Given the description of an element on the screen output the (x, y) to click on. 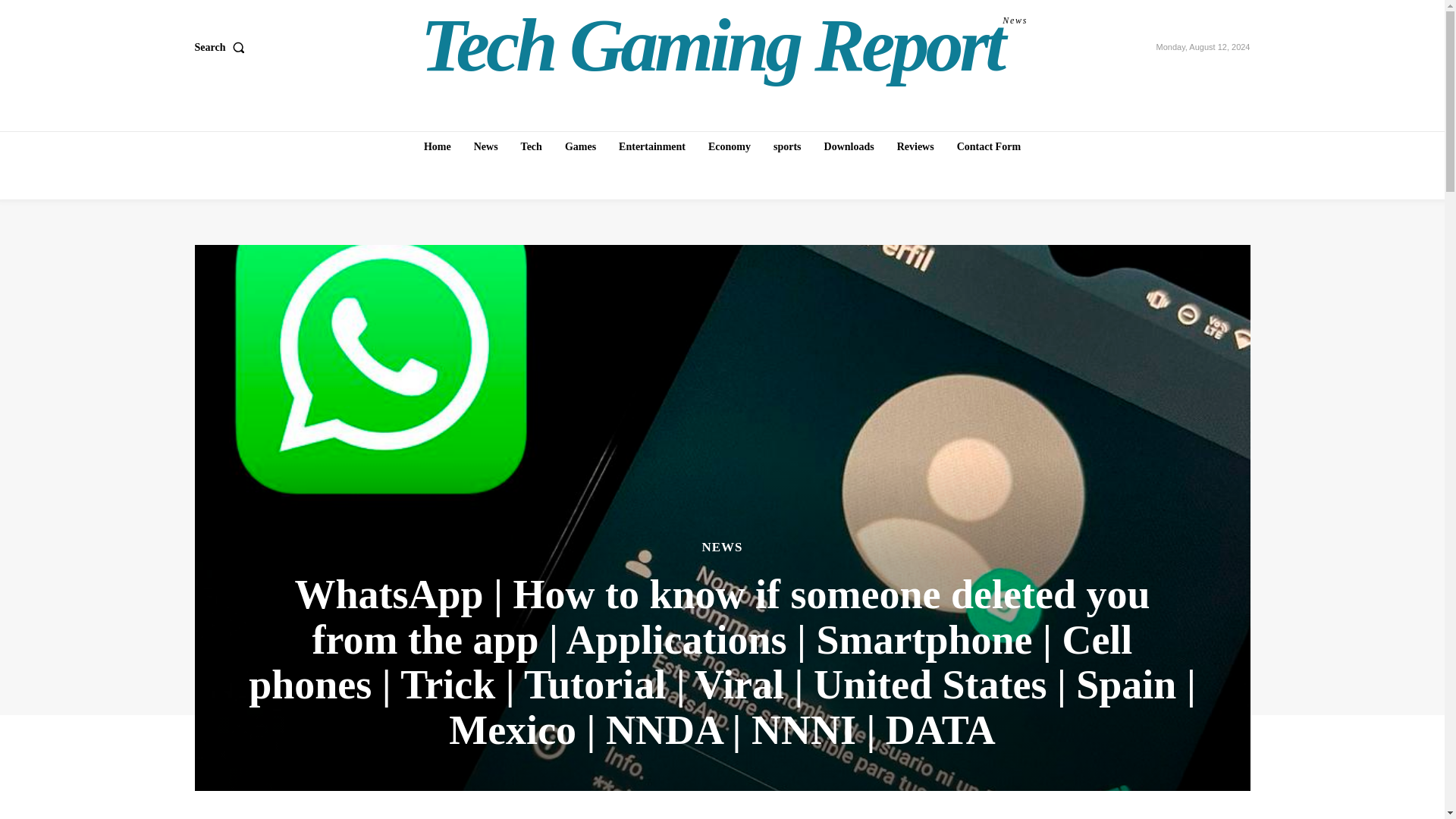
Games (580, 146)
Economy (729, 146)
Search (221, 47)
Home (437, 146)
Reviews (915, 146)
News (485, 146)
Tech (531, 146)
Entertainment (652, 146)
Downloads (849, 146)
Contact Form (988, 146)
